Given the description of an element on the screen output the (x, y) to click on. 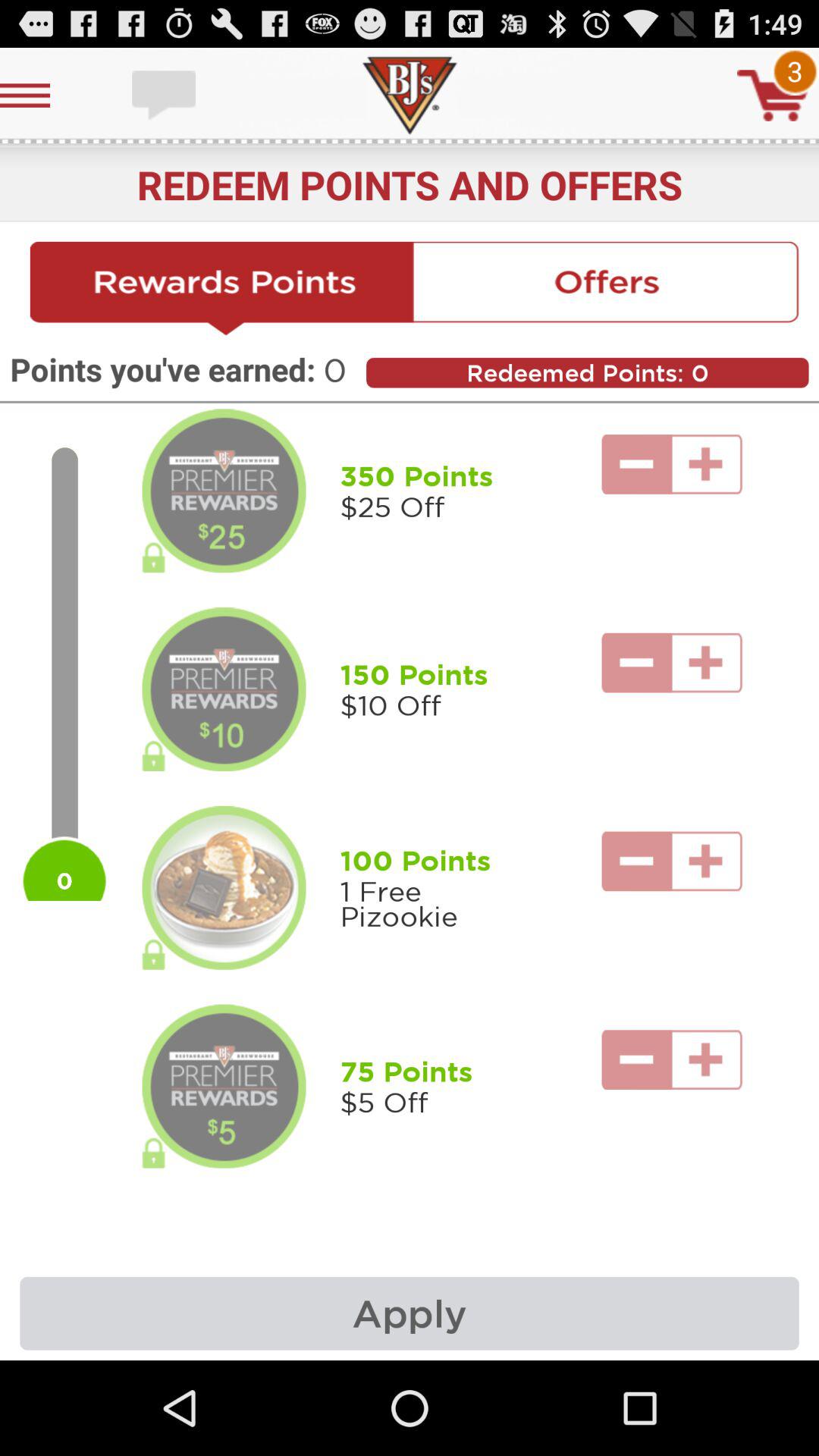
open details for reward (223, 491)
